Given the description of an element on the screen output the (x, y) to click on. 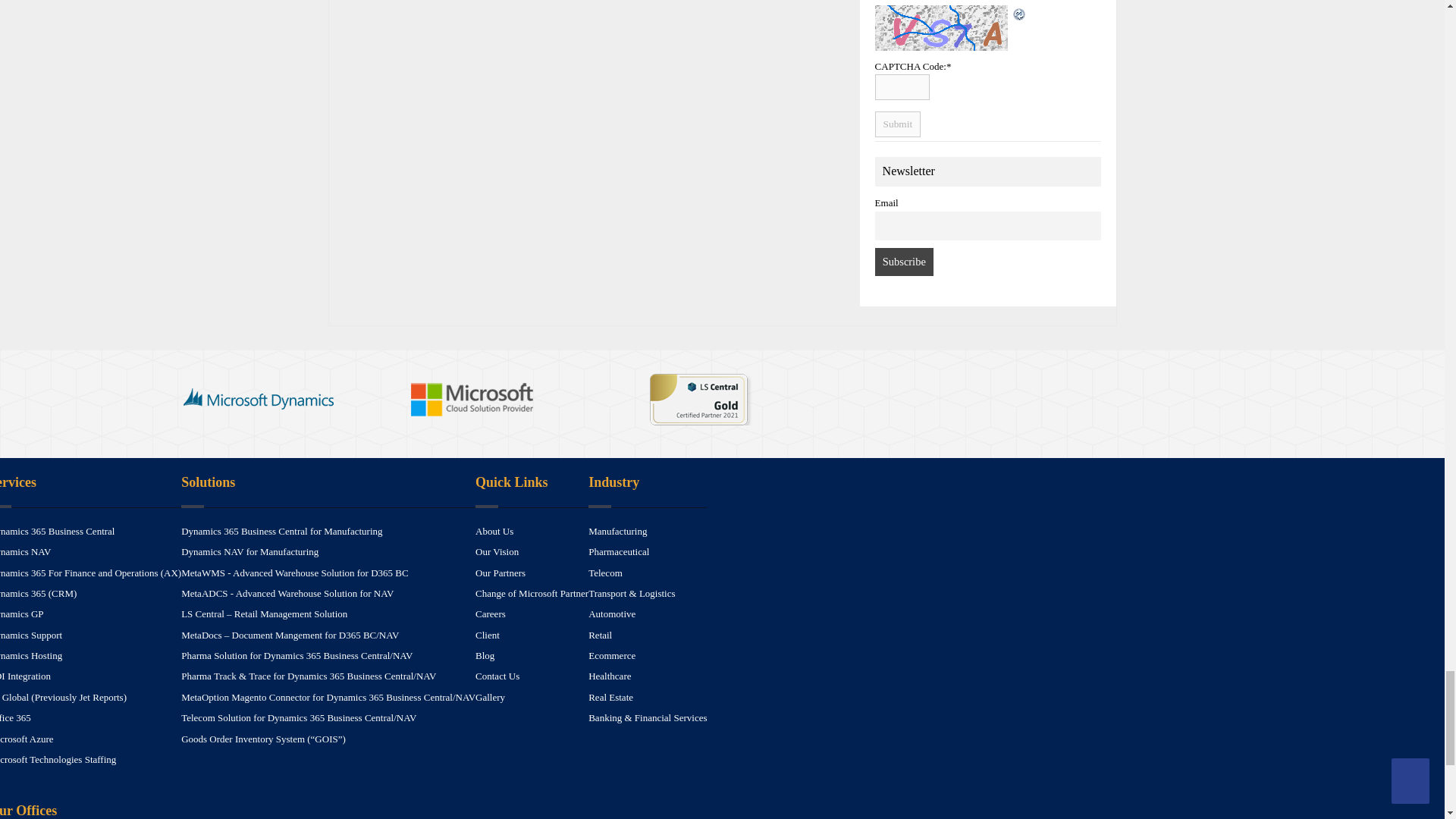
CAPTCHA Image (943, 27)
Dynamics 365 Business Central (57, 531)
Submit (898, 124)
Subscribe (904, 262)
Dynamics Support (31, 634)
Dynamics GP (21, 613)
Refresh Image (1019, 13)
A new NAV for a new era (25, 551)
